Given the description of an element on the screen output the (x, y) to click on. 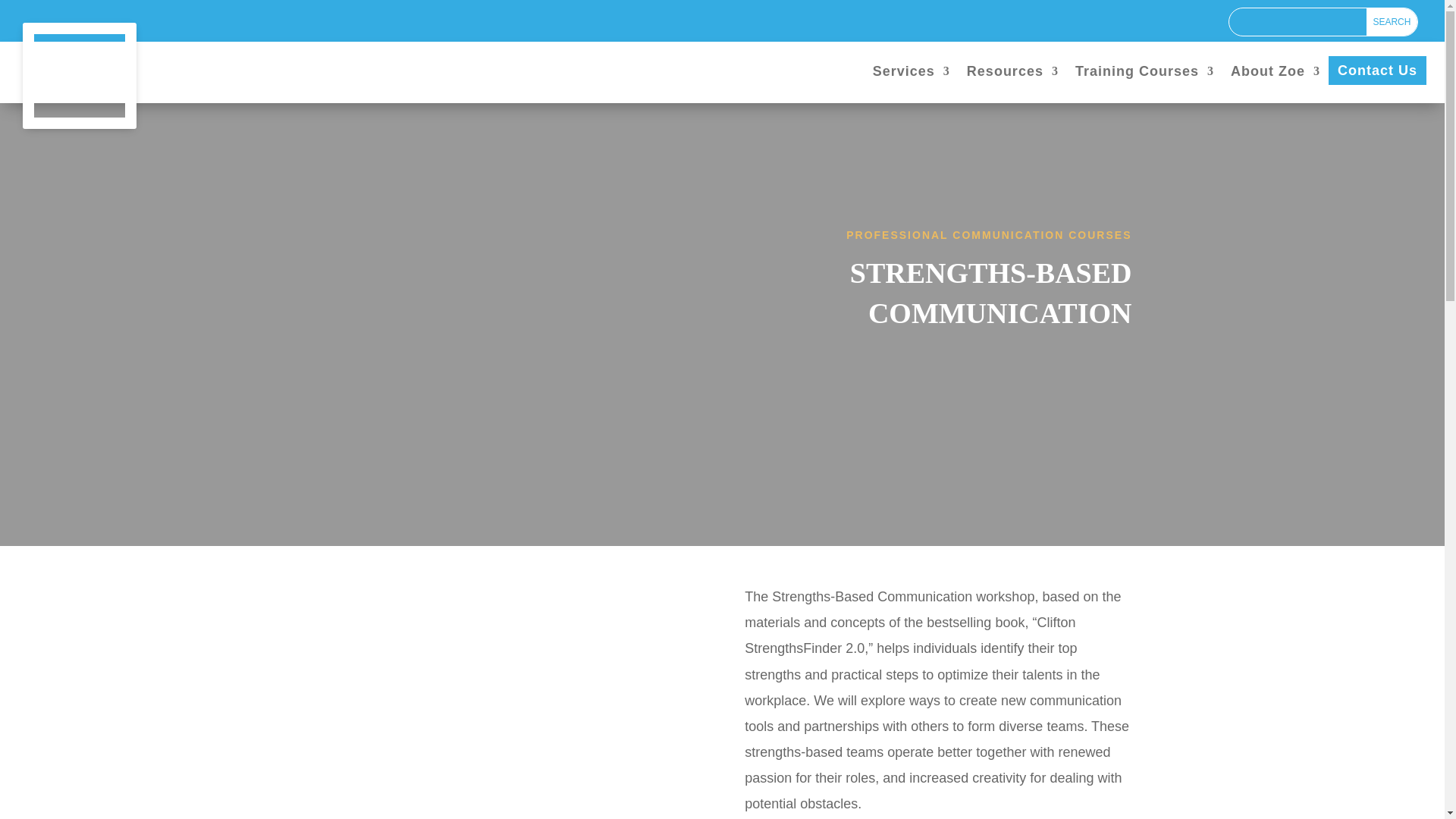
Search (1391, 22)
Services (911, 78)
Search (1391, 22)
Contact Us (1376, 70)
Search (1391, 22)
About Zoe (1275, 78)
Training Courses (1144, 78)
Resources (1012, 78)
